Given the description of an element on the screen output the (x, y) to click on. 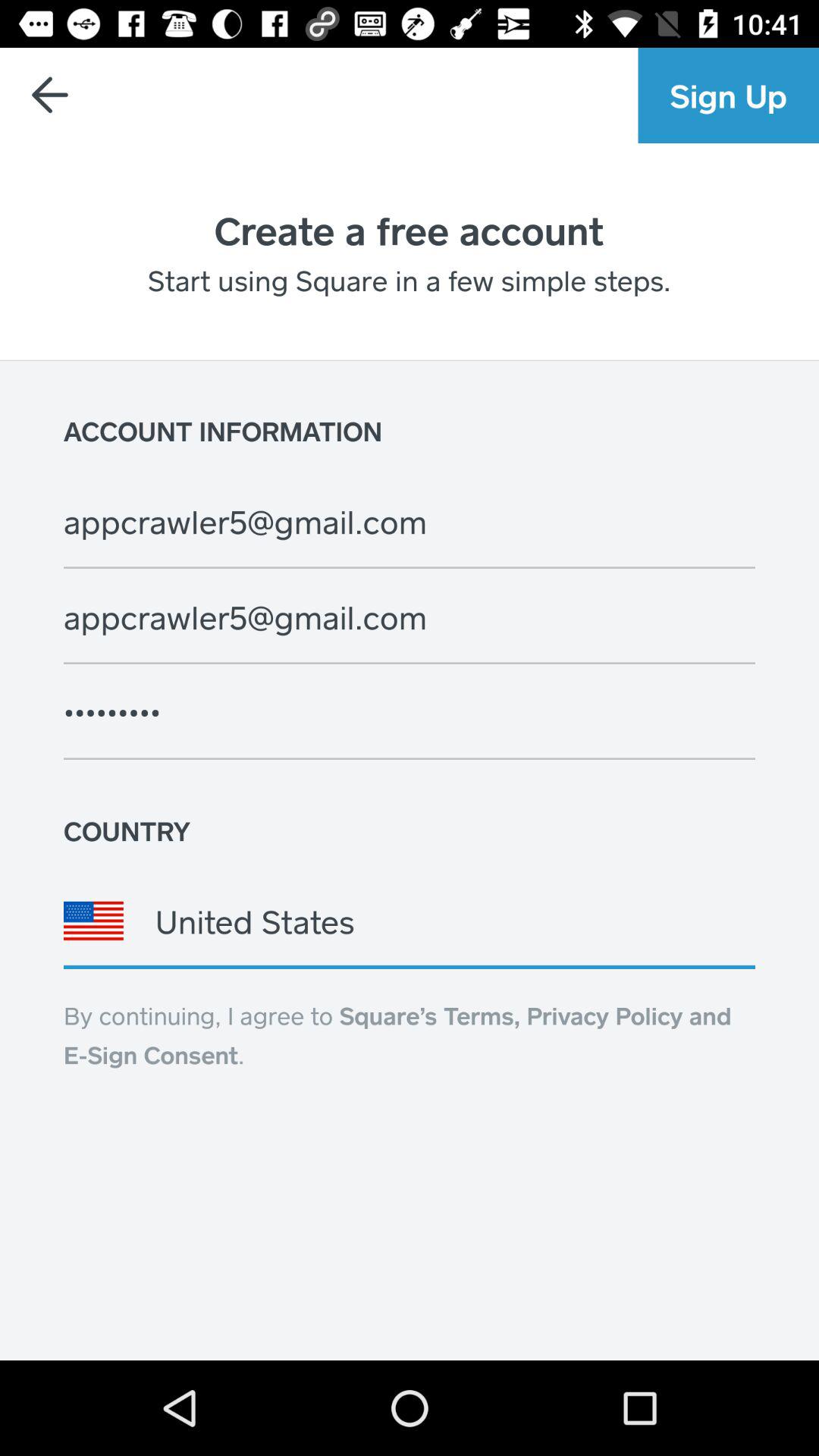
press united states (409, 921)
